Given the description of an element on the screen output the (x, y) to click on. 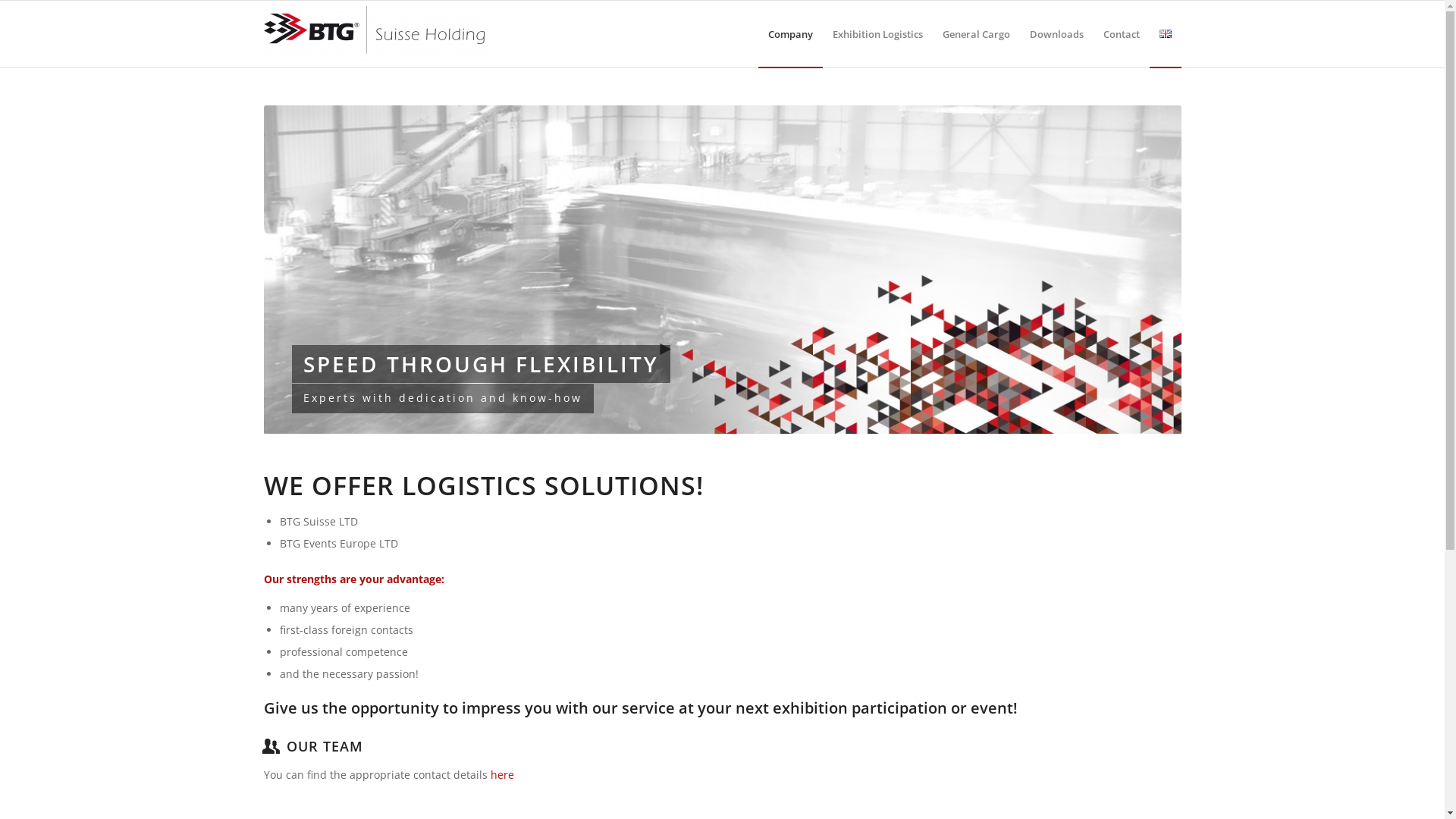
General Cargo Element type: text (975, 33)
Company Element type: text (790, 33)
Exhibition Logistics Element type: text (876, 33)
Contact Element type: text (1121, 33)
here Element type: text (501, 774)
OUR TEAM Element type: text (324, 746)
Our Team Element type: hover (270, 745)
Downloads Element type: text (1055, 33)
BTG Suisse Exhibitionhall Element type: hover (722, 269)
